Given the description of an element on the screen output the (x, y) to click on. 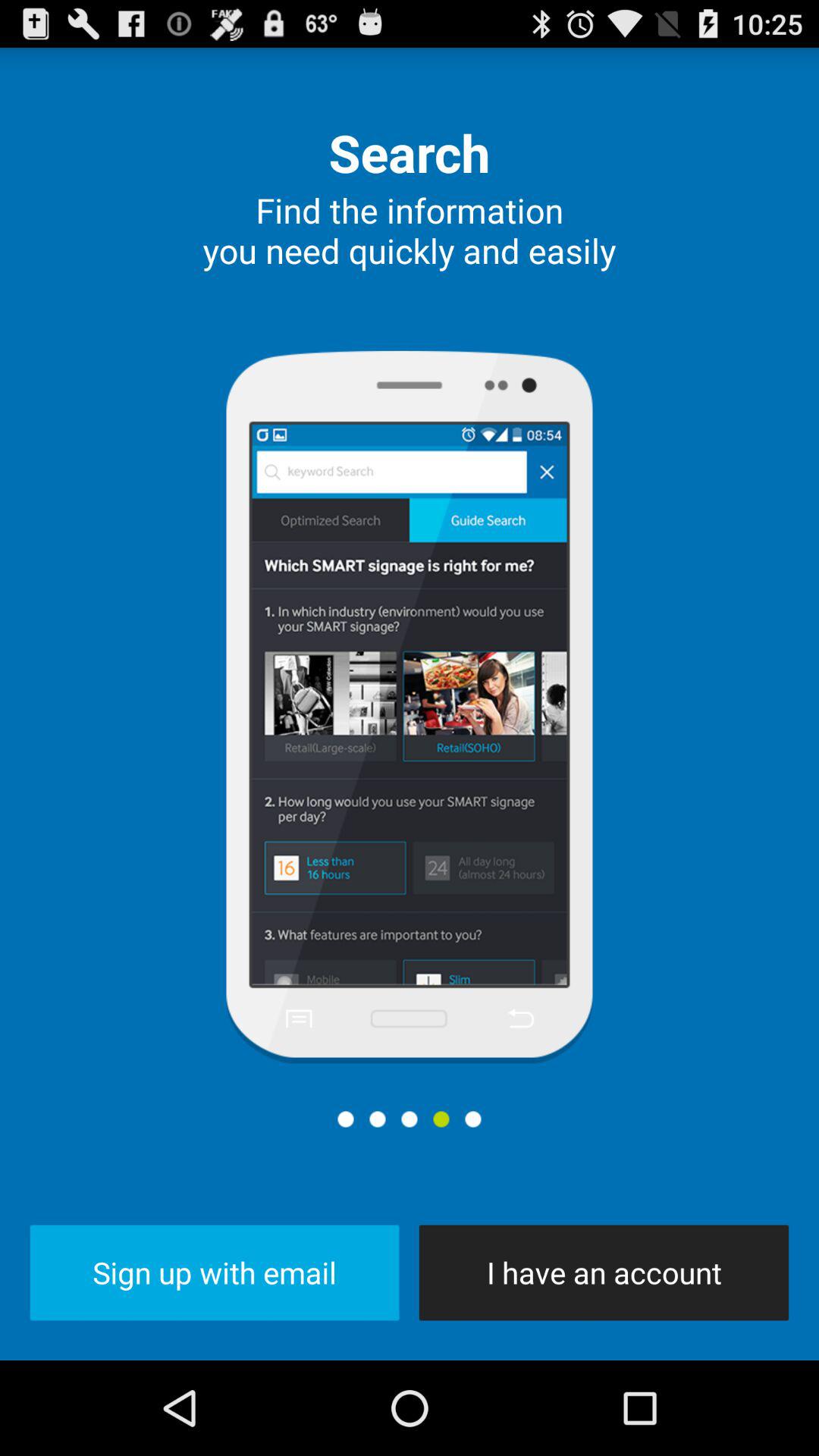
jump to the sign up with icon (214, 1272)
